Given the description of an element on the screen output the (x, y) to click on. 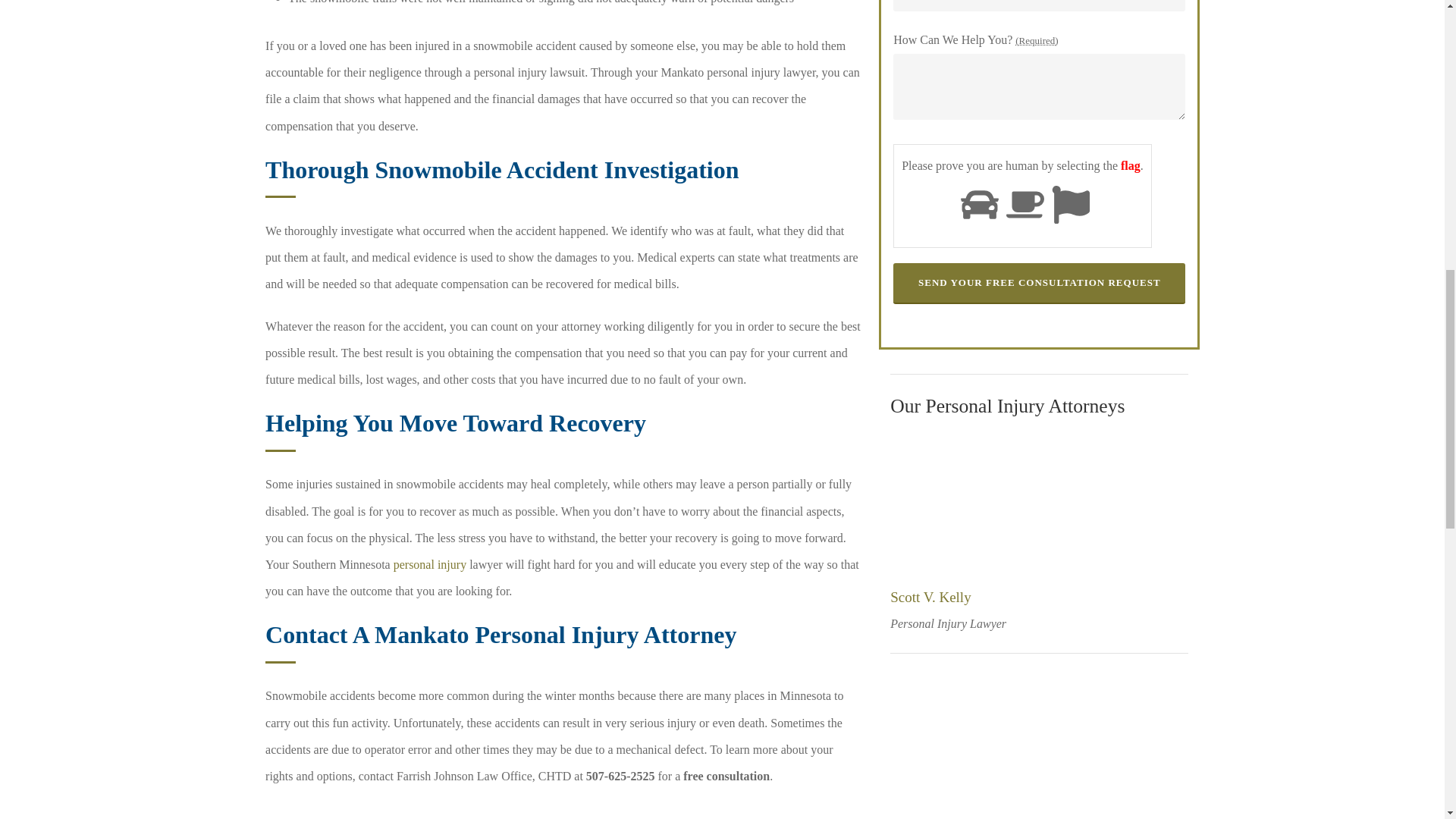
Send Your FREE Consultation Request (1039, 282)
required (1036, 40)
